Given the description of an element on the screen output the (x, y) to click on. 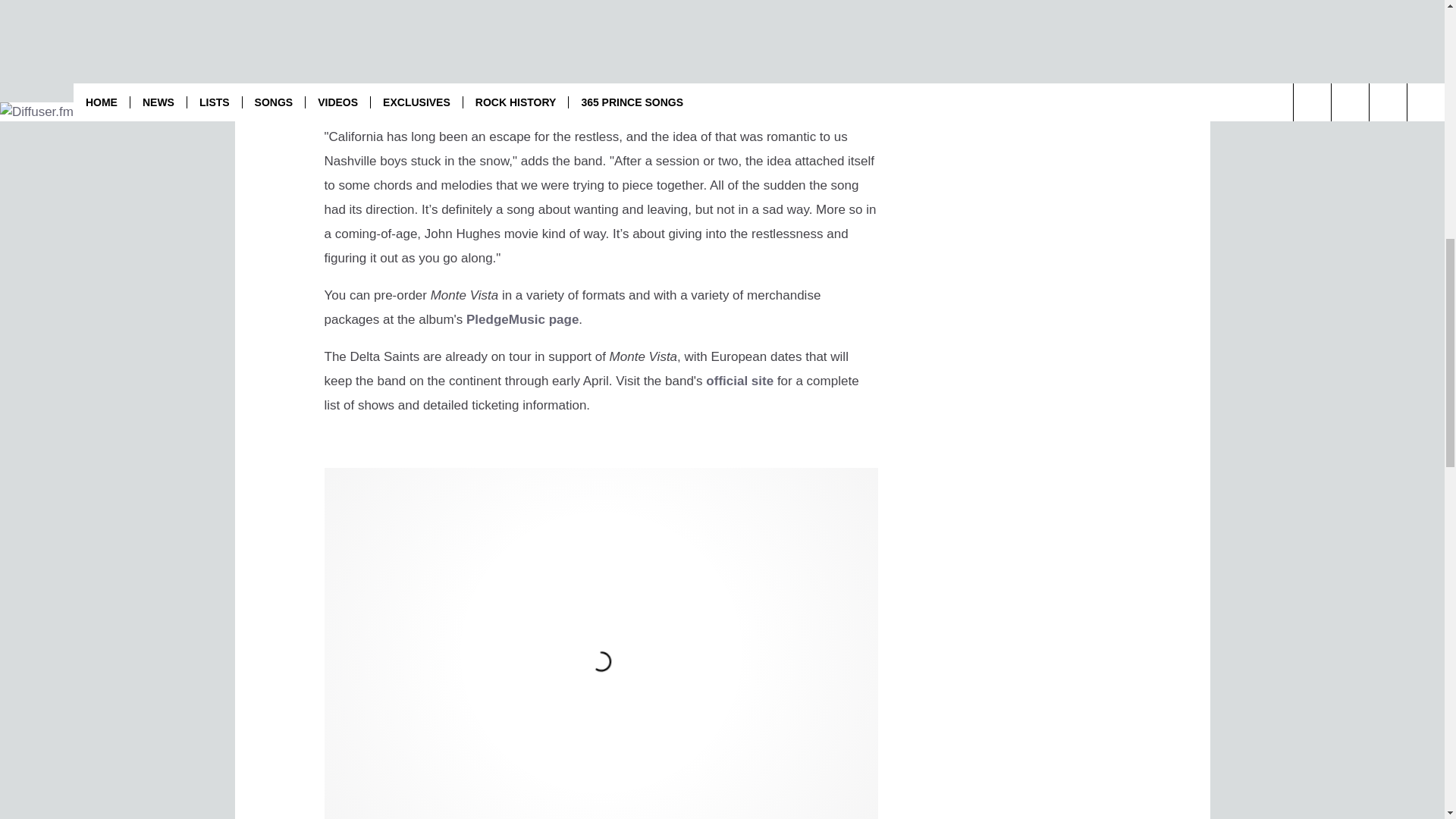
PledgeMusic page (521, 319)
official site (739, 380)
